Given the description of an element on the screen output the (x, y) to click on. 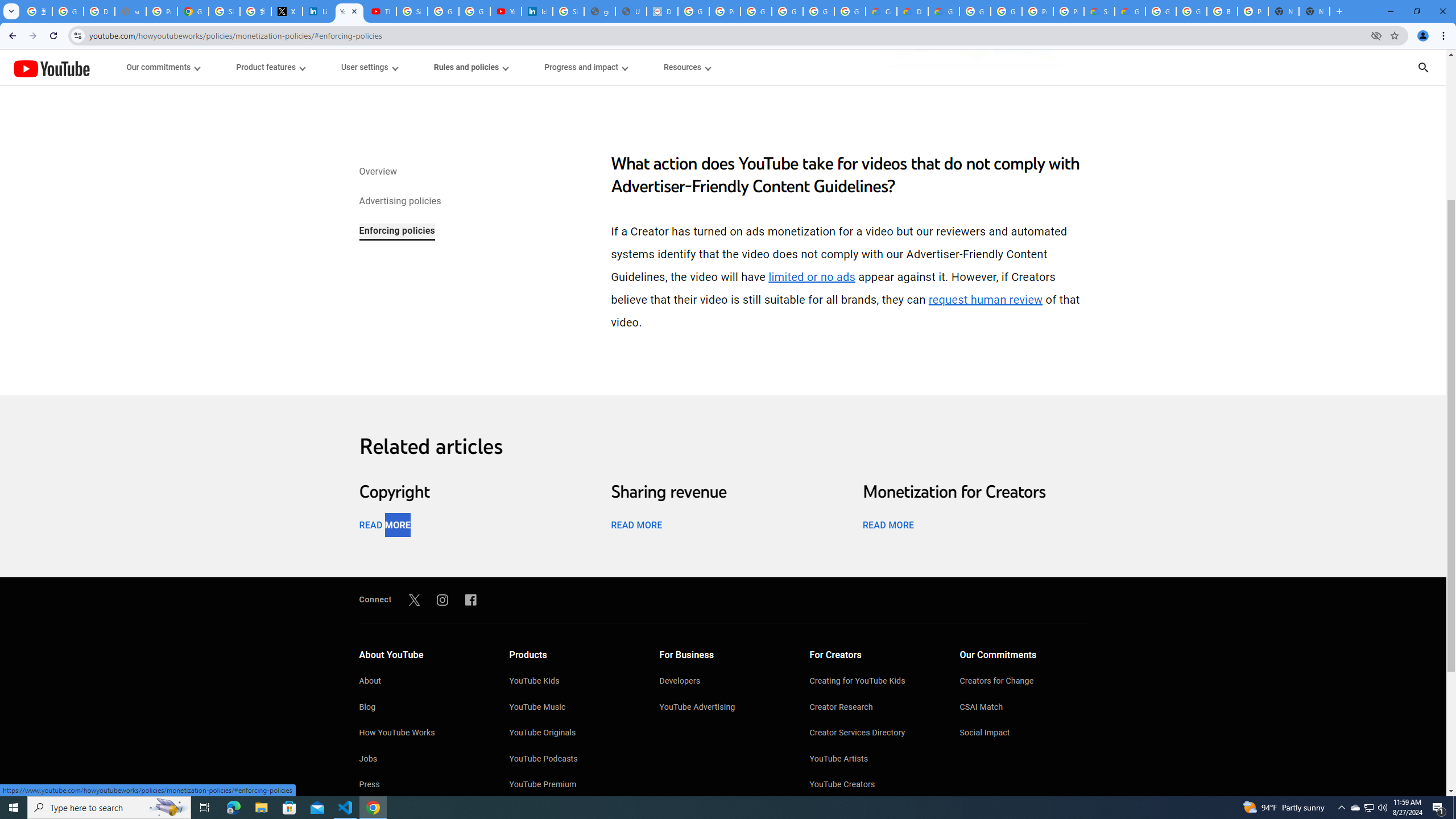
User Details (631, 11)
Product features menupopup (269, 67)
Jobs (422, 759)
